Given the description of an element on the screen output the (x, y) to click on. 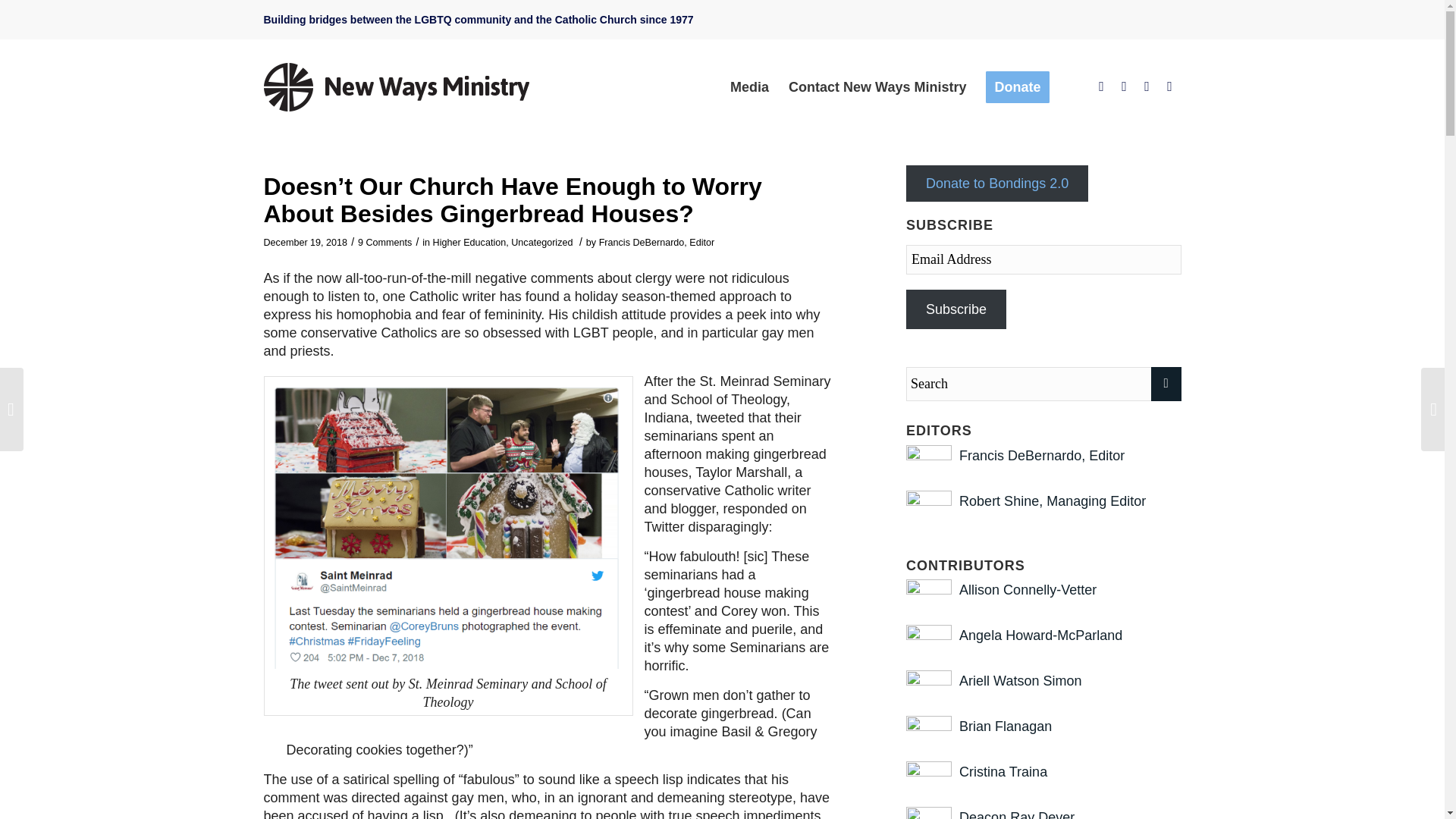
Higher Education (469, 242)
Facebook (1101, 86)
9 Comments (385, 242)
Francis DeBernardo, Editor (656, 242)
Twitter (1124, 86)
Media (749, 87)
Uncategorized (541, 242)
Posts by Angela Howard-McParland (1040, 635)
Mail (1169, 86)
Contact New Ways Ministry (876, 87)
Donate (1016, 87)
Posts by Francis DeBernardo, Editor (656, 242)
Posts by Francis DeBernardo, Editor (1041, 455)
Posts by Allison Connelly-Vetter (1027, 589)
Posts by Robert Shine, Managing Editor (1052, 500)
